Given the description of an element on the screen output the (x, y) to click on. 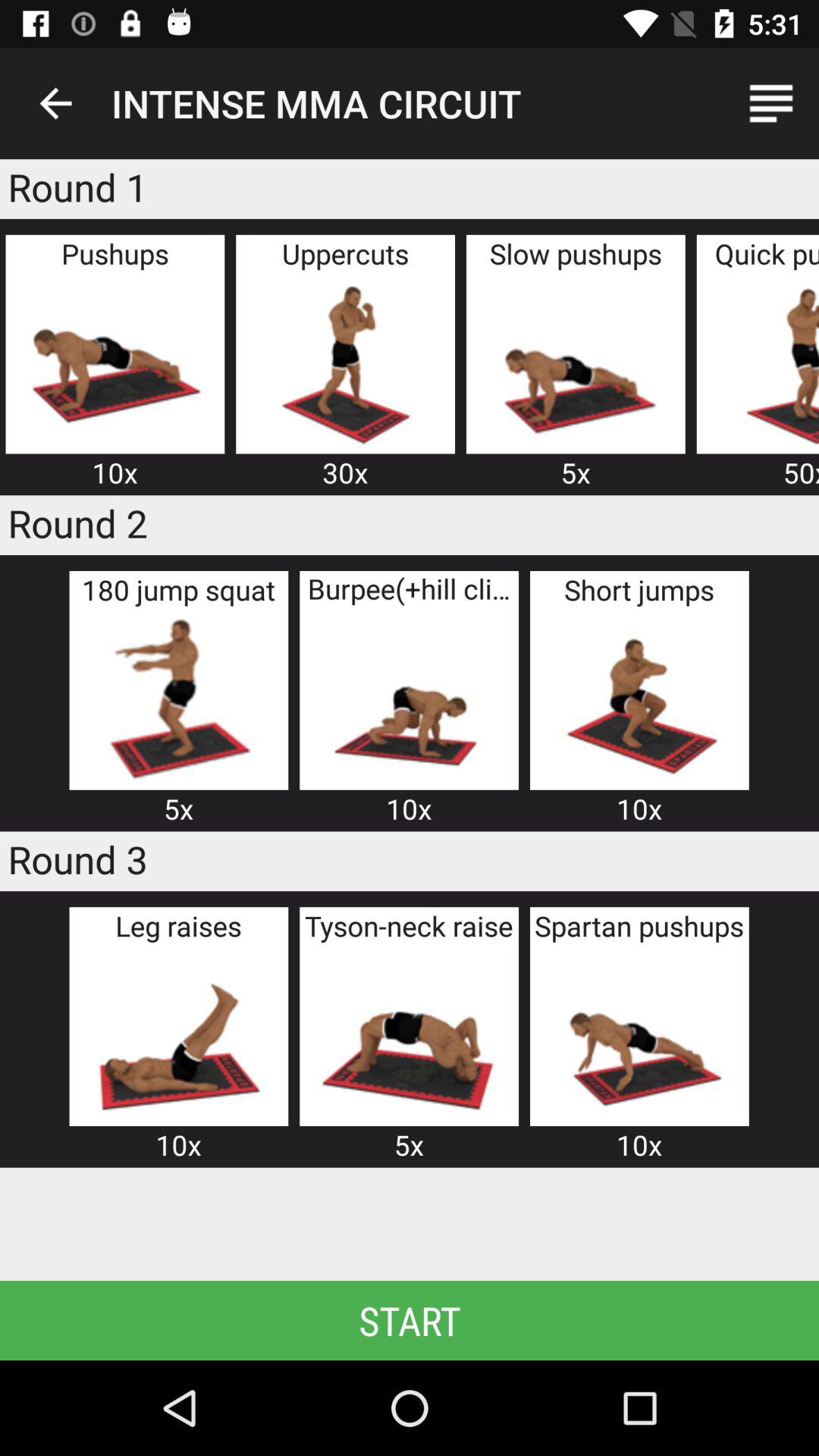
go to slow pushups (575, 362)
